Given the description of an element on the screen output the (x, y) to click on. 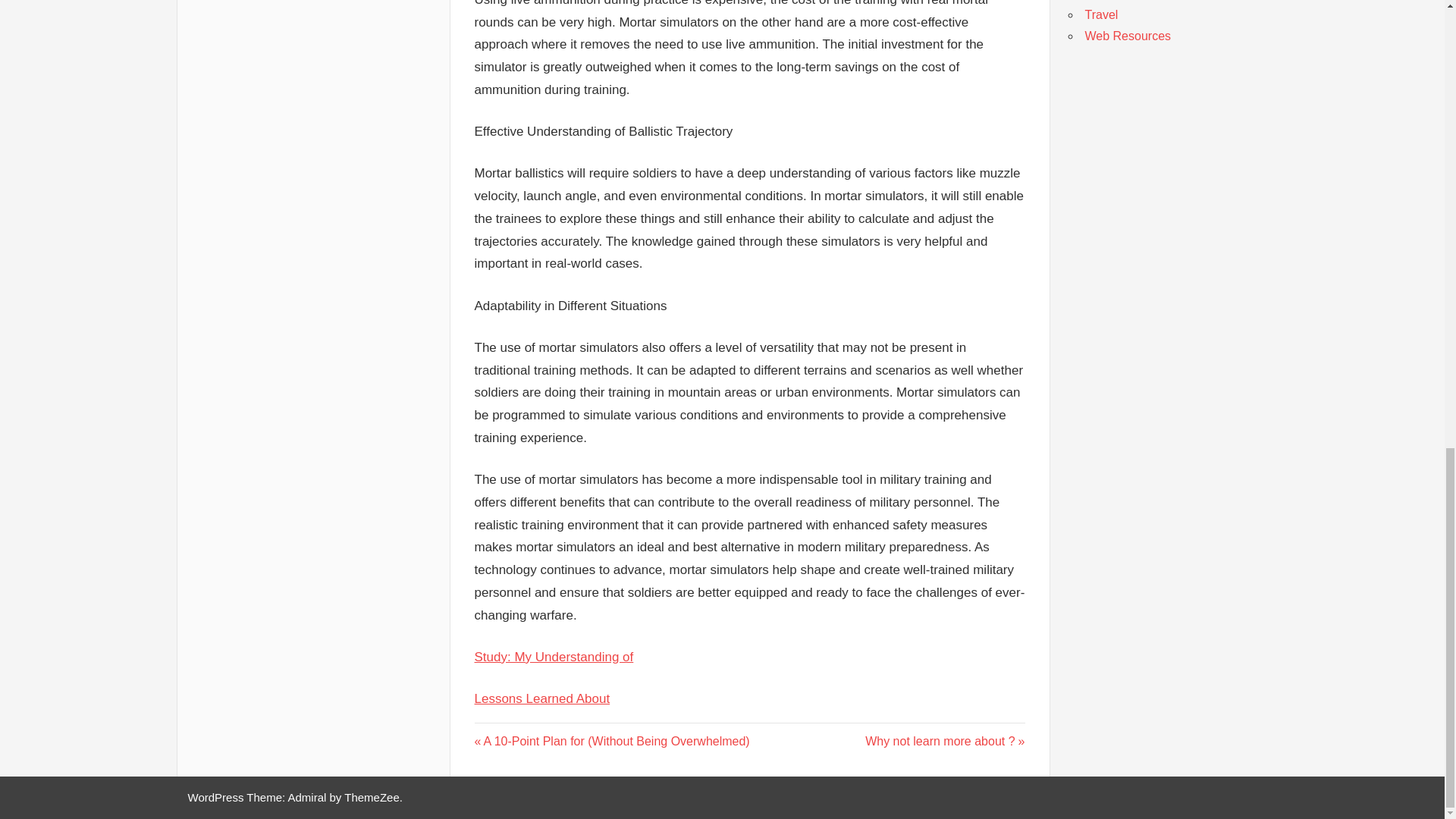
Study: My Understanding of (553, 657)
Lessons Learned About (542, 698)
